Given the description of an element on the screen output the (x, y) to click on. 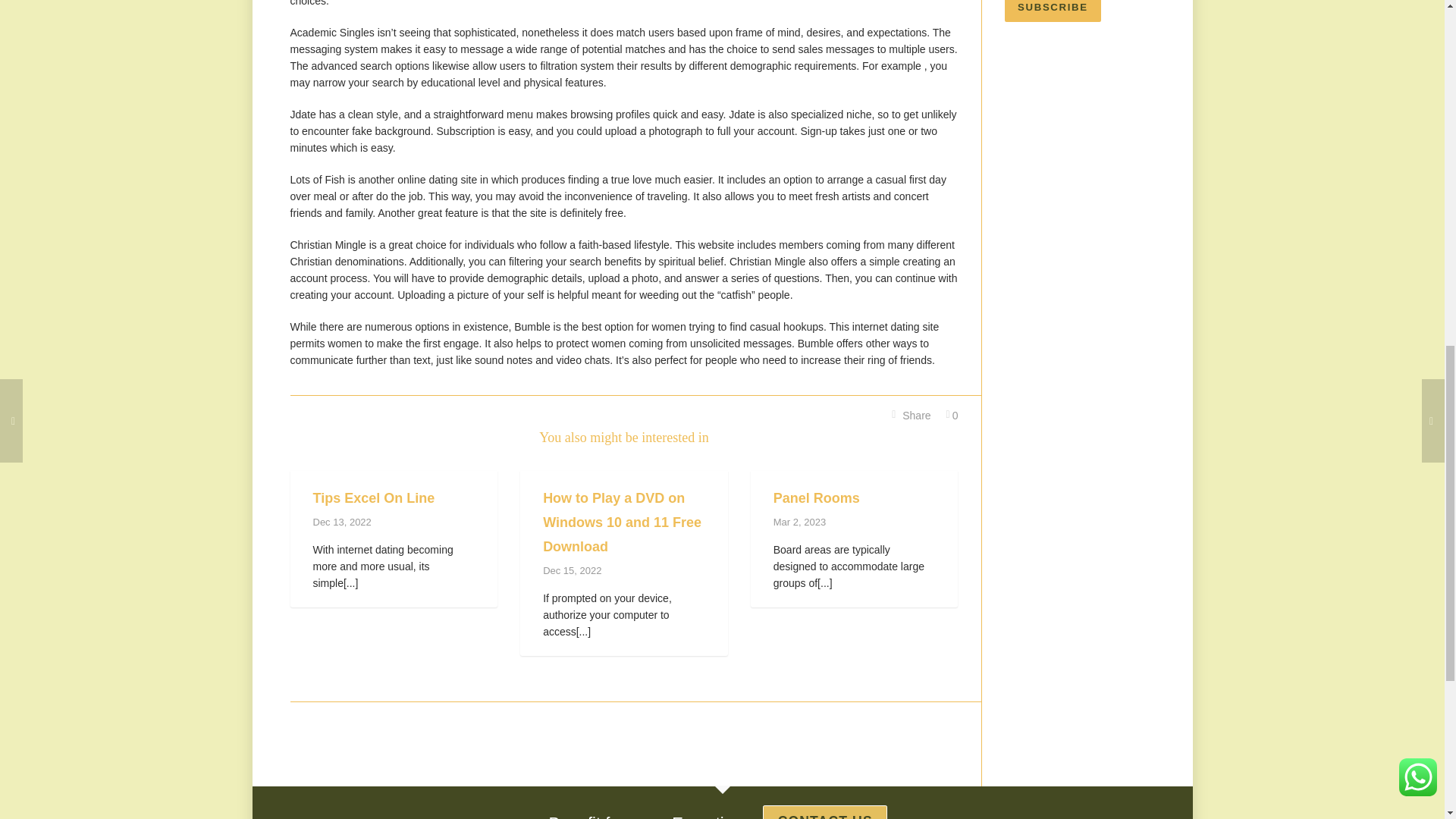
Tips Excel On Line (373, 498)
Like this post. What is the Best Online Dating Site? (952, 415)
Panel Rooms (816, 498)
Subscribe (859, 812)
How to Play a DVD on Windows 10 and 11 Free Download (622, 522)
